Given the description of an element on the screen output the (x, y) to click on. 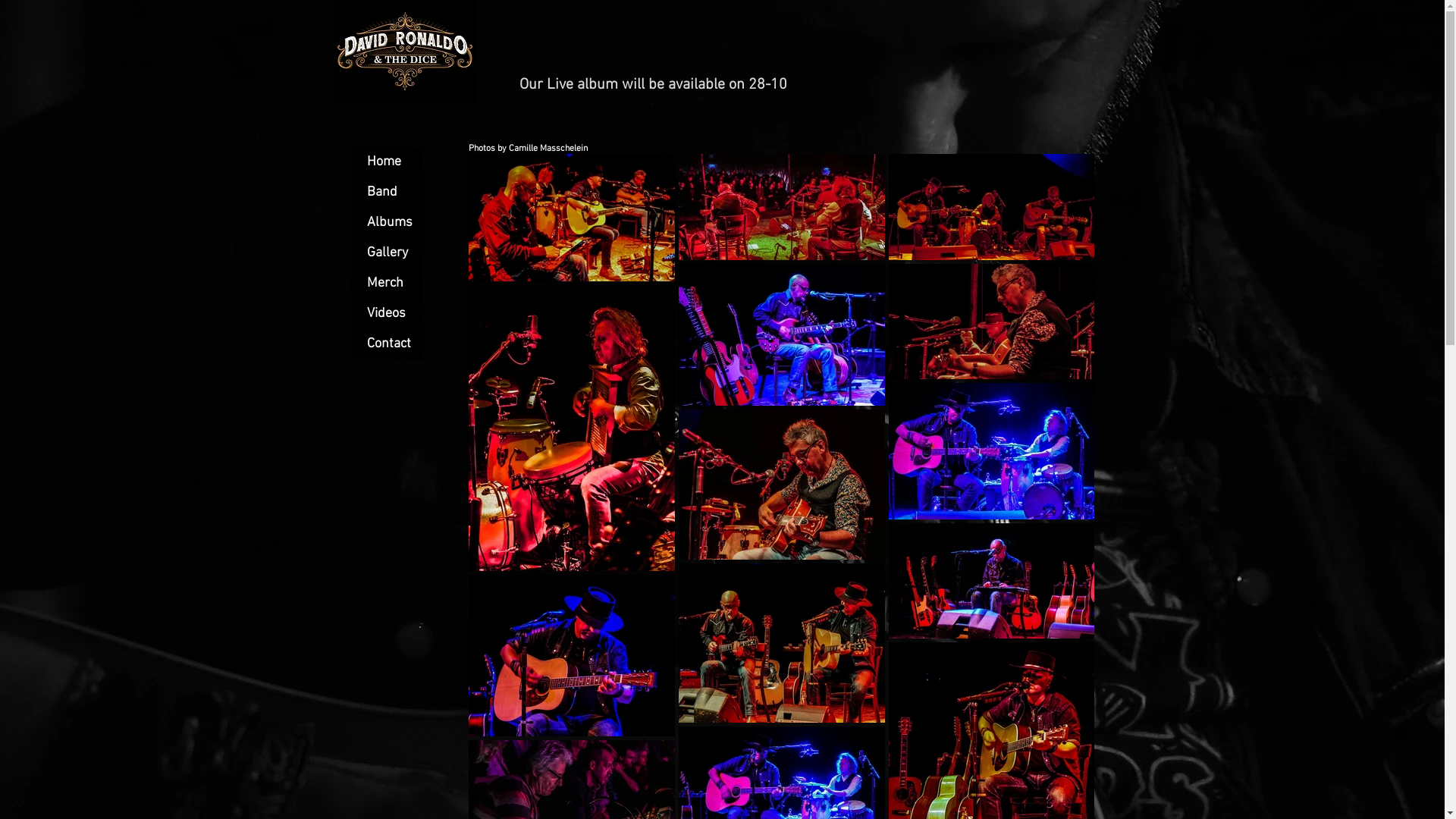
Videos Element type: text (386, 313)
Gallery Element type: text (386, 253)
Merch Element type: text (386, 283)
Contact Element type: text (386, 344)
Home Element type: text (386, 162)
Band Element type: text (386, 192)
Albums Element type: text (386, 222)
